Given the description of an element on the screen output the (x, y) to click on. 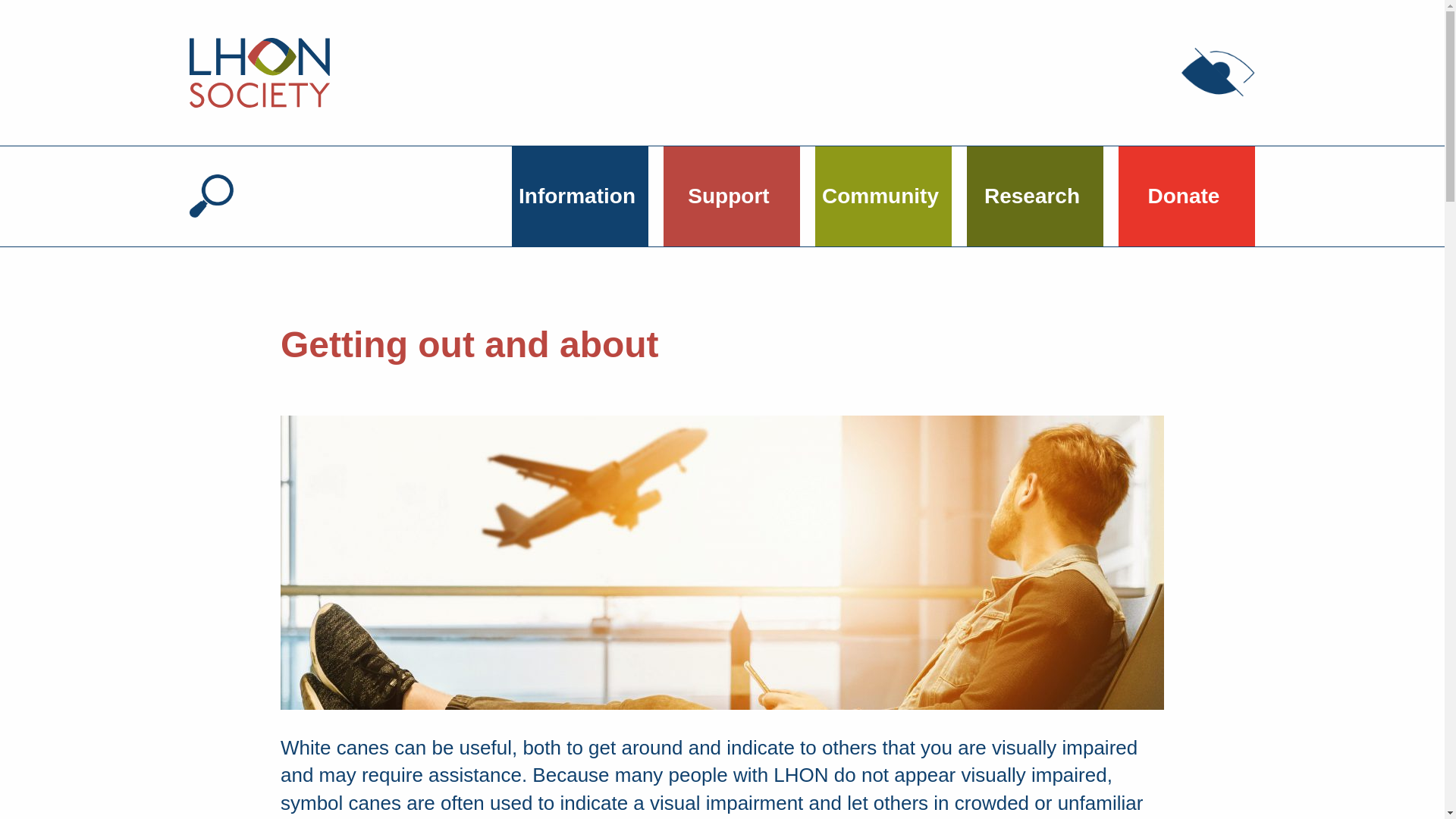
Donate (1186, 196)
Research (1034, 196)
Support (731, 196)
click to reveal search (210, 196)
Information (579, 196)
Enable recite accessibility toolbar (1217, 72)
Community (883, 196)
